Given the description of an element on the screen output the (x, y) to click on. 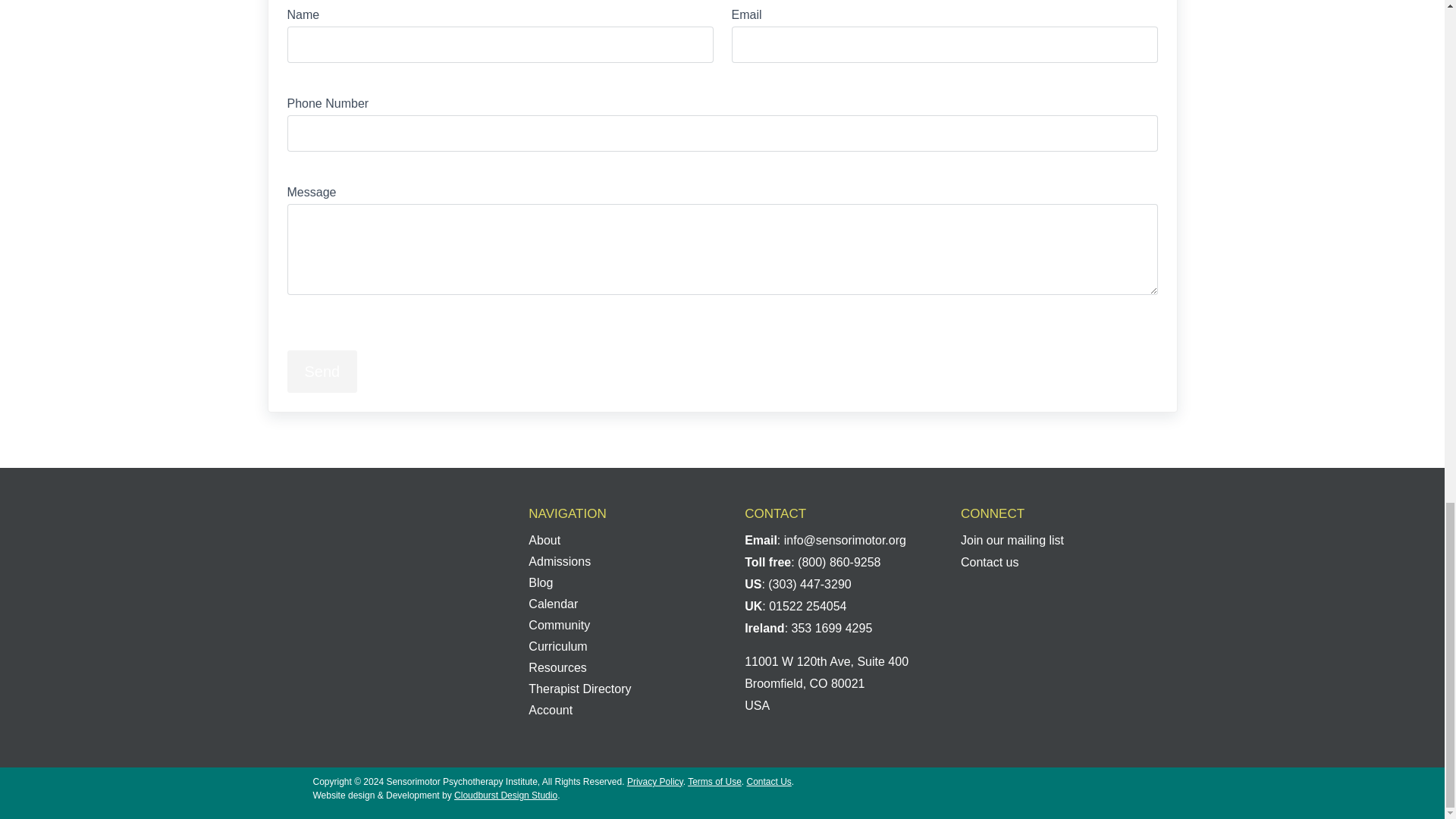
Send (321, 371)
